Given the description of an element on the screen output the (x, y) to click on. 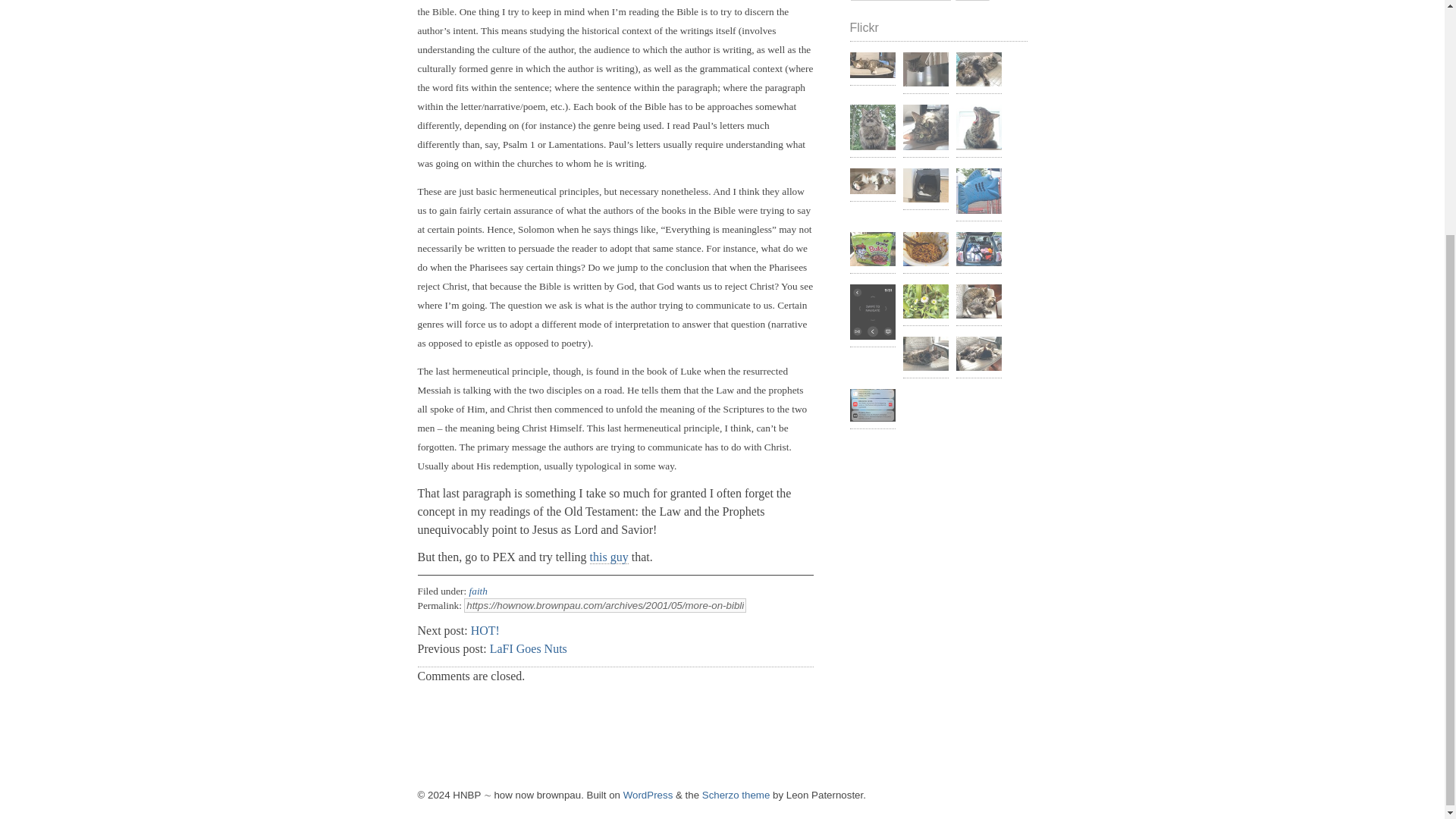
Fish Bridge at Cole Harbour Place playground (978, 192)
Fleabane flowers (924, 303)
HOT! (484, 630)
Costco haul fits in Fiat 500 (978, 250)
Jjajang Buldak (924, 250)
LaFI Goes Nuts (528, 648)
Scherzo theme (735, 794)
Jjajang Buldak (871, 250)
